Given the description of an element on the screen output the (x, y) to click on. 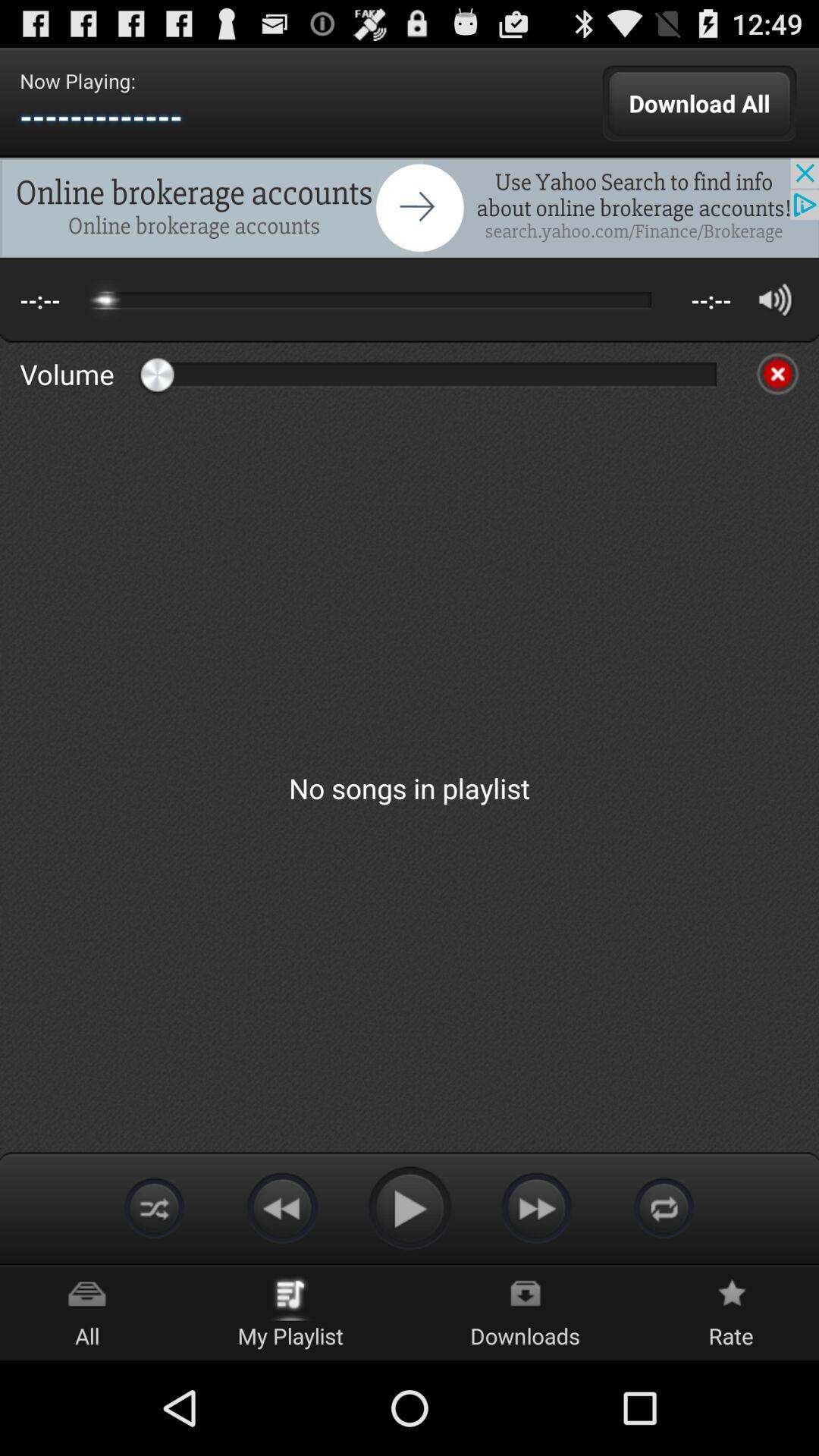
volume (775, 299)
